Given the description of an element on the screen output the (x, y) to click on. 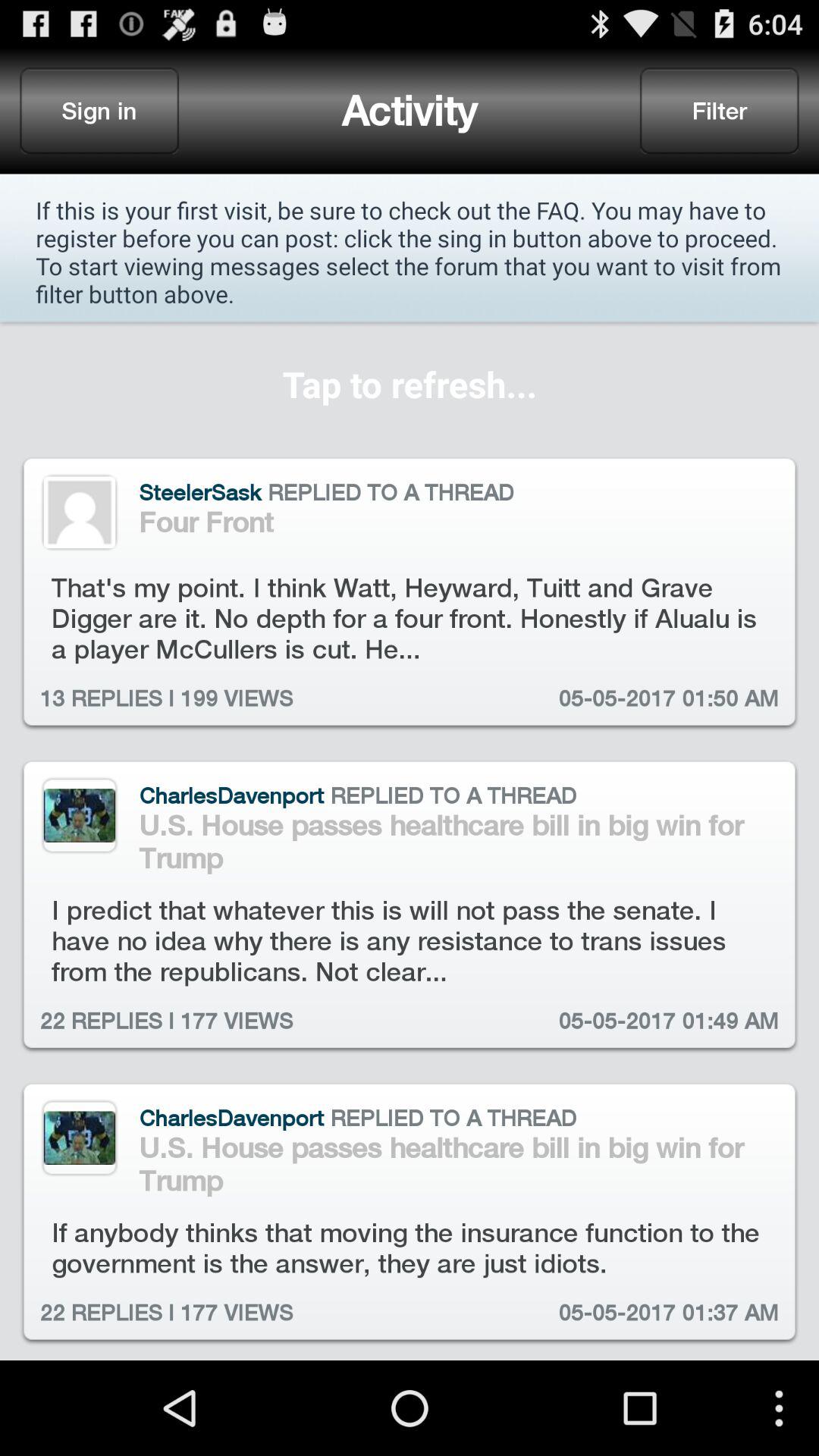
charles davenport (79, 1137)
